Given the description of an element on the screen output the (x, y) to click on. 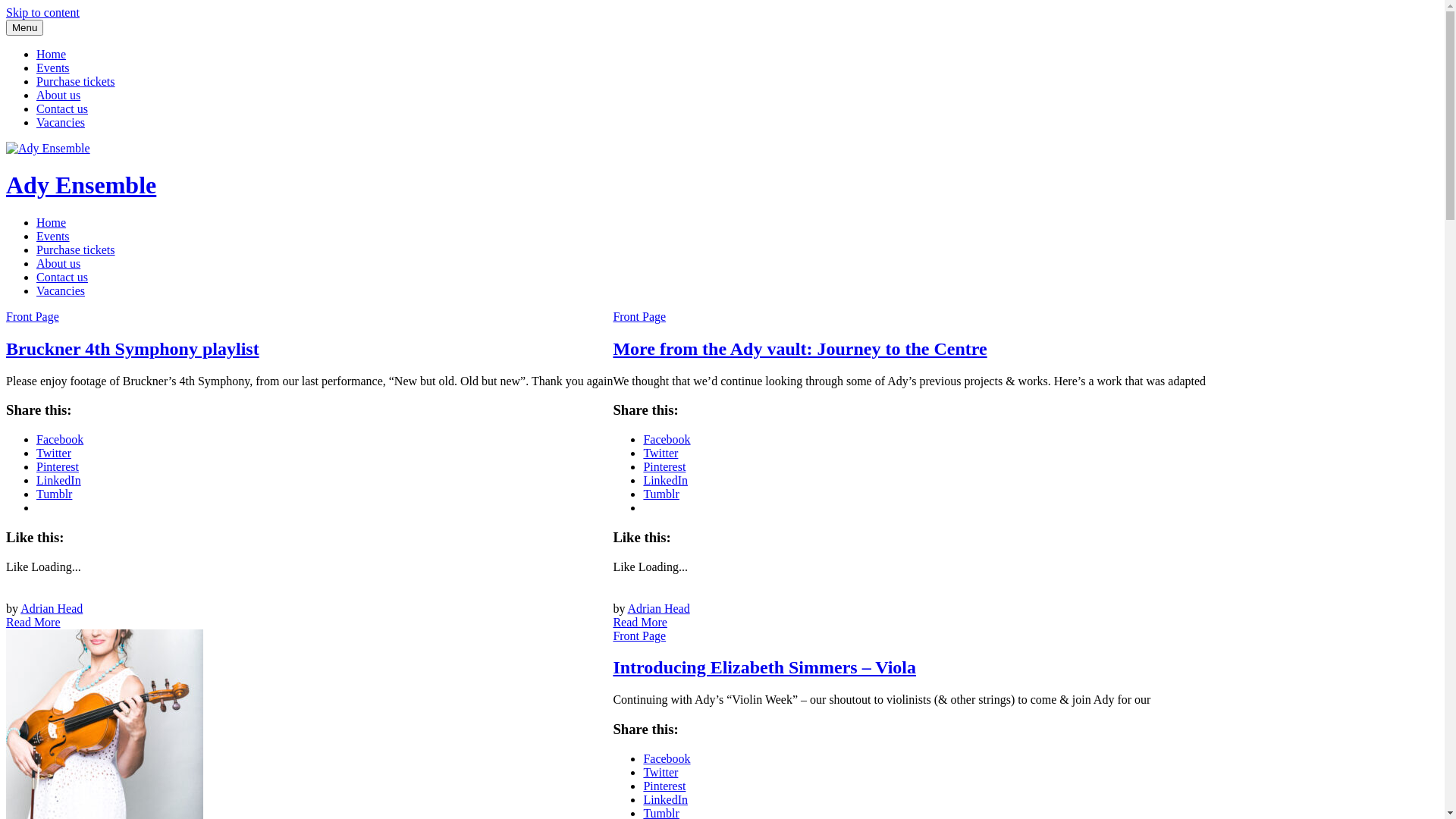
Ady Ensemble Element type: text (81, 184)
Facebook Element type: text (59, 439)
Front Page Element type: text (638, 316)
Contact us Element type: text (61, 108)
Skip to content Element type: text (42, 12)
Contact us Element type: text (61, 276)
Facebook Element type: text (666, 758)
Purchase tickets Element type: text (75, 249)
Front Page Element type: text (32, 316)
Events Element type: text (52, 235)
Events Element type: text (52, 67)
Bruckner 4th Symphony playlist Element type: text (132, 348)
Tumblr Element type: text (660, 493)
Twitter Element type: text (53, 452)
Twitter Element type: text (660, 771)
LinkedIn Element type: text (58, 479)
Pinterest Element type: text (664, 785)
Pinterest Element type: text (57, 466)
LinkedIn Element type: text (665, 799)
More from the Ady vault: Journey to the Centre Element type: text (799, 348)
Facebook Element type: text (666, 439)
Menu Element type: text (24, 27)
Adrian Head Element type: text (658, 608)
Twitter Element type: text (660, 452)
Home Element type: text (50, 53)
About us Element type: text (58, 94)
LinkedIn Element type: text (665, 479)
Adrian Head Element type: text (51, 608)
Read More Element type: text (33, 621)
Pinterest Element type: text (664, 466)
Front Page Element type: text (638, 635)
Tumblr Element type: text (54, 493)
Read More Element type: text (639, 621)
Vacancies Element type: text (60, 290)
Purchase tickets Element type: text (75, 81)
Vacancies Element type: text (60, 122)
About us Element type: text (58, 263)
Home Element type: text (50, 222)
